Given the description of an element on the screen output the (x, y) to click on. 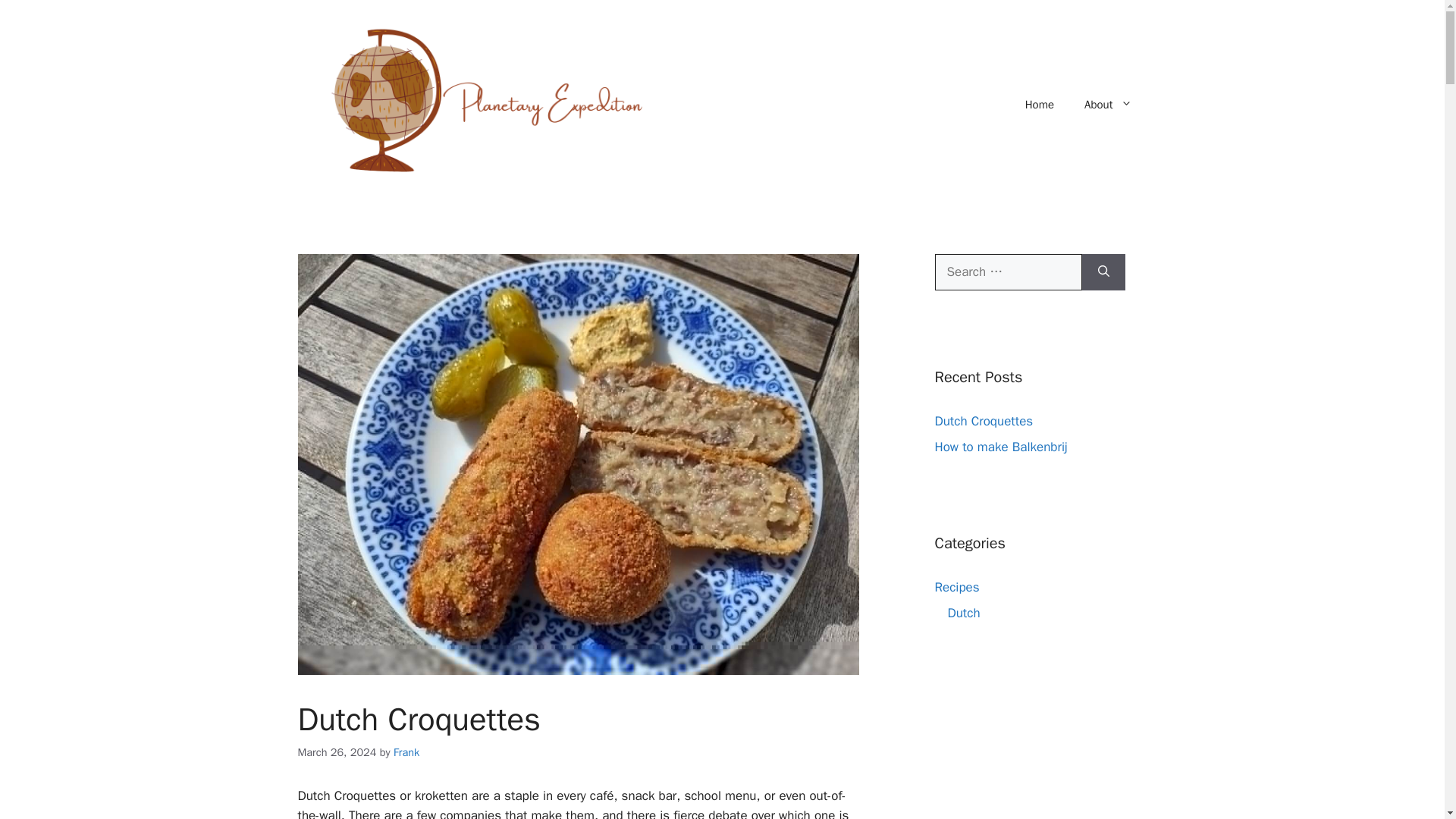
Recipes (956, 587)
Home (1039, 104)
About (1107, 104)
How to make Balkenbrij (1000, 446)
Dutch (963, 612)
Frank (406, 752)
Dutch Croquettes (983, 420)
View all posts by Frank (406, 752)
Search for: (1007, 271)
